Given the description of an element on the screen output the (x, y) to click on. 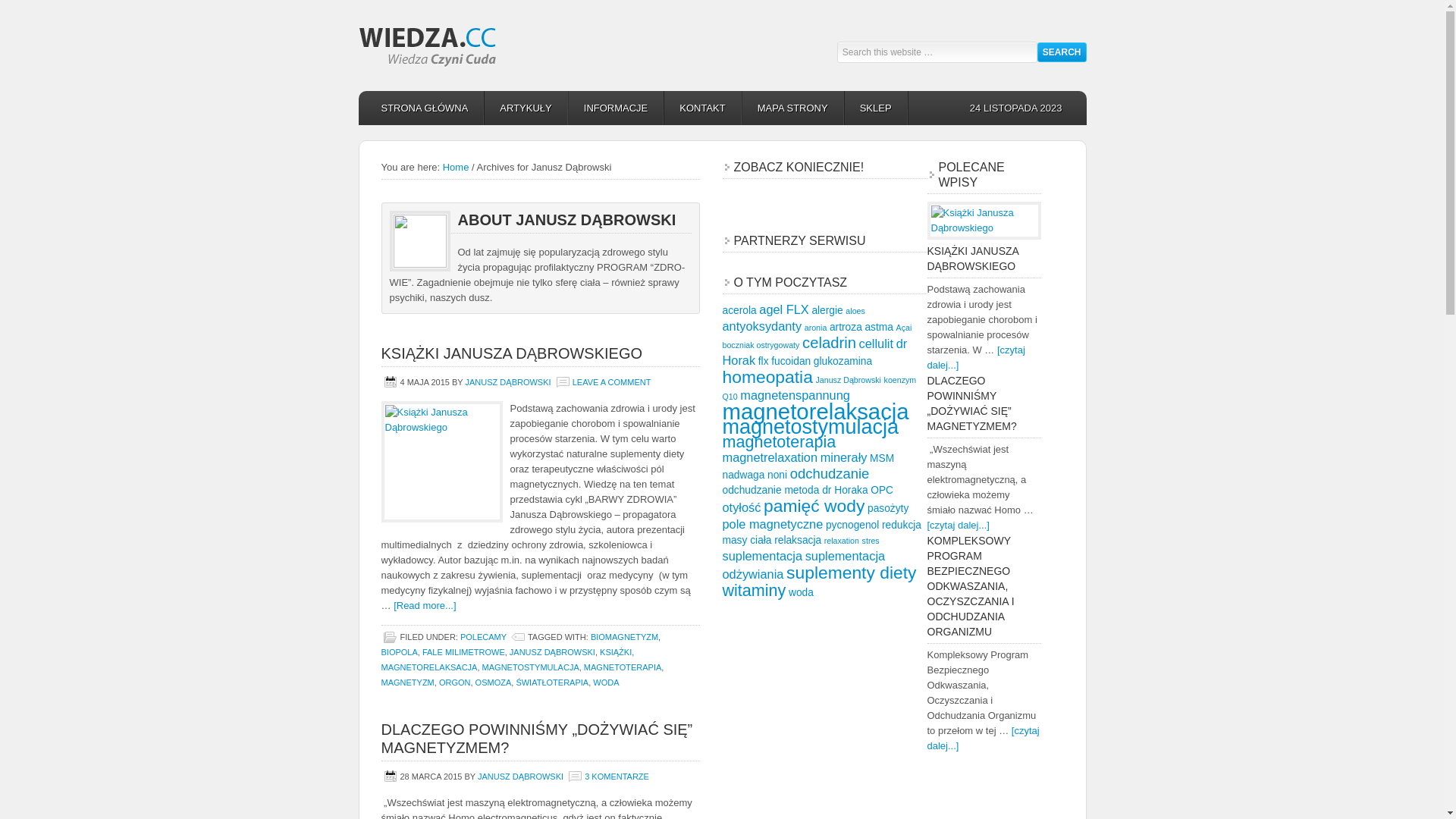
FALE MILIMETROWE Element type: text (463, 651)
flx Element type: text (763, 361)
3 KOMENTARZE Element type: text (616, 776)
acerola Element type: text (738, 310)
glukozamina Element type: text (842, 361)
odchudzanie Element type: text (829, 473)
witaminy Element type: text (753, 589)
antyoksydanty Element type: text (761, 325)
Search Element type: text (1061, 52)
artroza Element type: text (845, 326)
KONTAKT Element type: text (702, 108)
SKLEP Element type: text (876, 108)
WIEDZA.CC Element type: text (493, 45)
[Read more...] Element type: text (424, 605)
MAPA STRONY Element type: text (793, 108)
suplementacja Element type: text (761, 555)
OPC Element type: text (881, 489)
stres Element type: text (870, 540)
woda Element type: text (800, 592)
MAGNETYZM Element type: text (406, 682)
MAGNETOSTYMULACJA Element type: text (530, 666)
magnetorelaksacja Element type: text (814, 410)
suplementy diety Element type: text (851, 572)
POLECAMY Element type: text (483, 636)
MAGNETORELAKSACJA Element type: text (428, 666)
BIOMAGNETYZM Element type: text (624, 636)
INFORMACJE Element type: text (616, 108)
noni Element type: text (777, 474)
[czytaj dalej...] Element type: text (957, 524)
MSM Element type: text (881, 458)
alergie Element type: text (826, 310)
aloes Element type: text (854, 310)
LEAVE A COMMENT Element type: text (611, 381)
magnetoterapia Element type: text (778, 441)
nadwaga Element type: text (742, 474)
relaxation Element type: text (841, 540)
MAGNETOTERAPIA Element type: text (622, 666)
magnetenspannung Element type: text (795, 394)
magnetostymulacja Element type: text (809, 426)
fucoidan Element type: text (790, 361)
ORGON Element type: text (454, 682)
magnetrelaxation Element type: text (769, 457)
koenzym Q10 Element type: text (818, 388)
odchudzanie metoda dr Horaka Element type: text (794, 489)
WODA Element type: text (605, 682)
agel FLX Element type: text (783, 309)
OSMOZA Element type: text (493, 682)
celadrin Element type: text (829, 342)
Home Element type: text (455, 166)
homeopatia Element type: text (766, 376)
BIOPOLA Element type: text (398, 651)
boczniak ostrygowaty Element type: text (760, 344)
pole magnetyczne Element type: text (771, 523)
pycnogenol Element type: text (851, 524)
aronia Element type: text (815, 327)
astma Element type: text (878, 326)
[czytaj dalej...] Element type: text (975, 357)
cellulit Element type: text (876, 343)
relaksacja Element type: text (797, 540)
[czytaj dalej...] Element type: text (982, 737)
dr Horak Element type: text (813, 351)
